Given the description of an element on the screen output the (x, y) to click on. 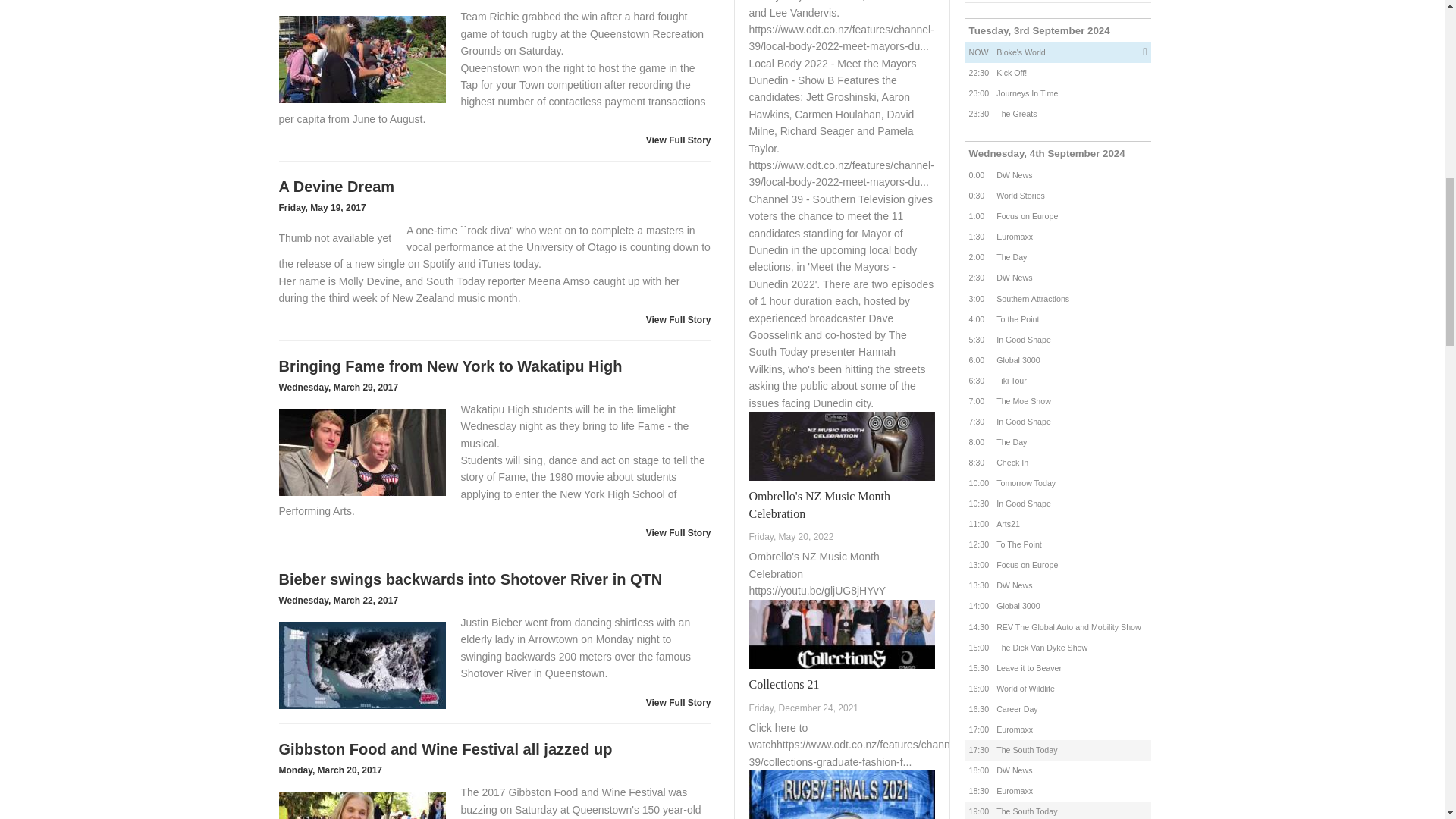
Bieber swings backwards into Shotover River in QTN (362, 665)
Gibbston Food and Wine Festival all jazzed up (362, 796)
Wakatipu High puts on musical (362, 452)
A touch of rugby stardom in Queenstown  (362, 61)
